Given the description of an element on the screen output the (x, y) to click on. 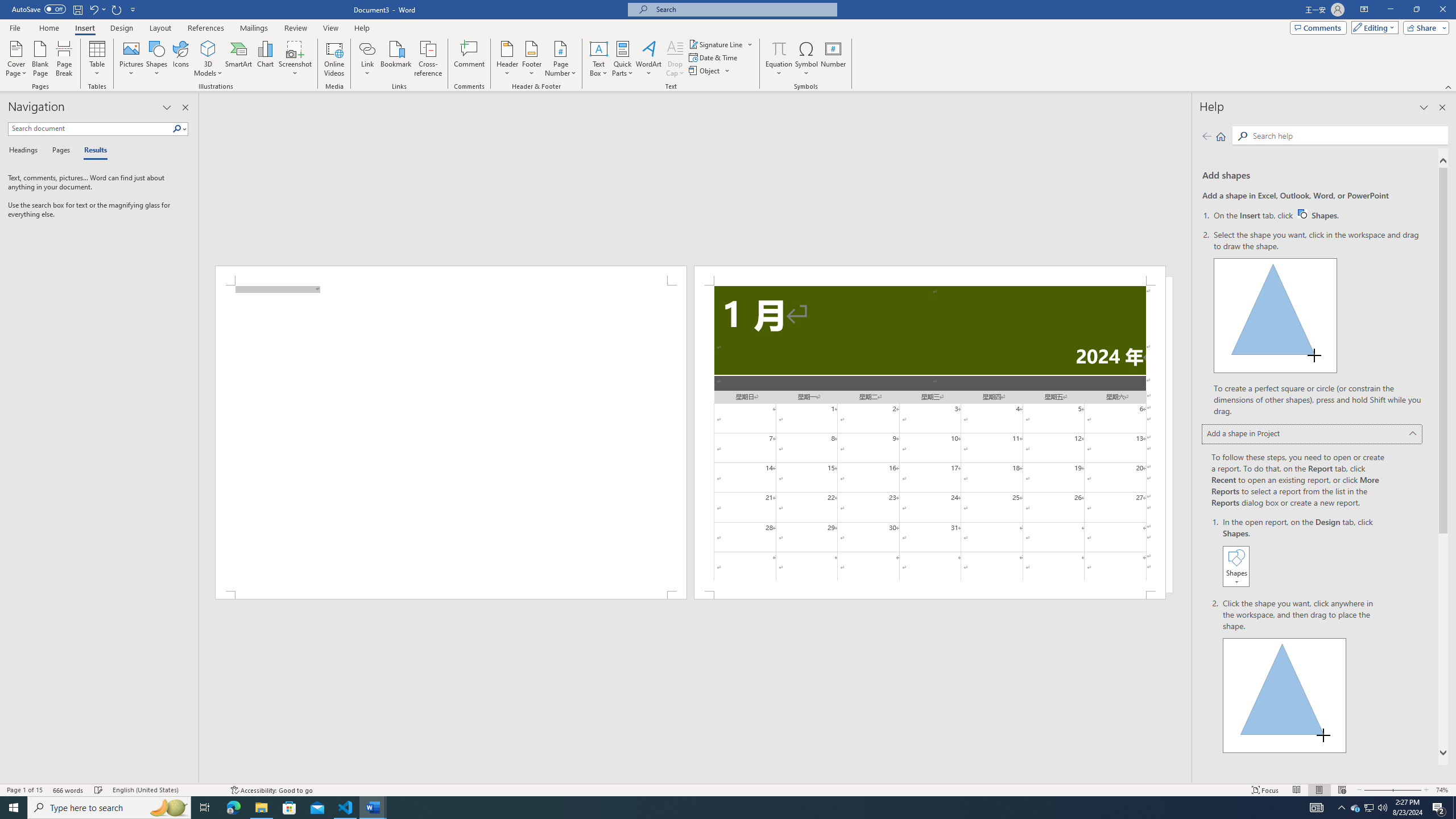
Drawing a shape (1284, 695)
Previous page (1206, 136)
Header (507, 58)
Blank Page (40, 58)
SmartArt... (238, 58)
Page 1 content (451, 438)
